Given the description of an element on the screen output the (x, y) to click on. 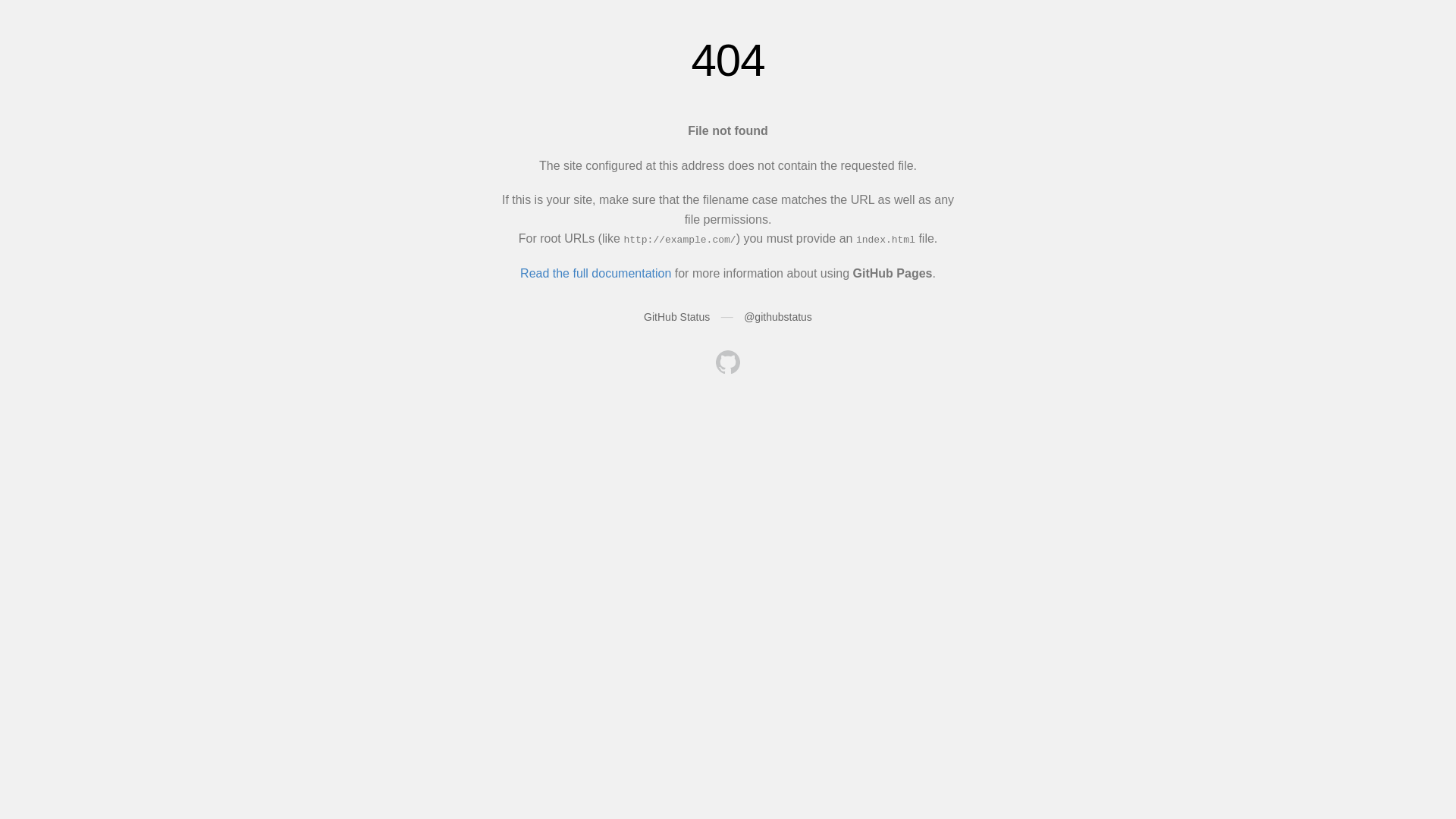
@githubstatus Element type: text (777, 316)
GitHub Status Element type: text (676, 316)
Read the full documentation Element type: text (595, 272)
